Given the description of an element on the screen output the (x, y) to click on. 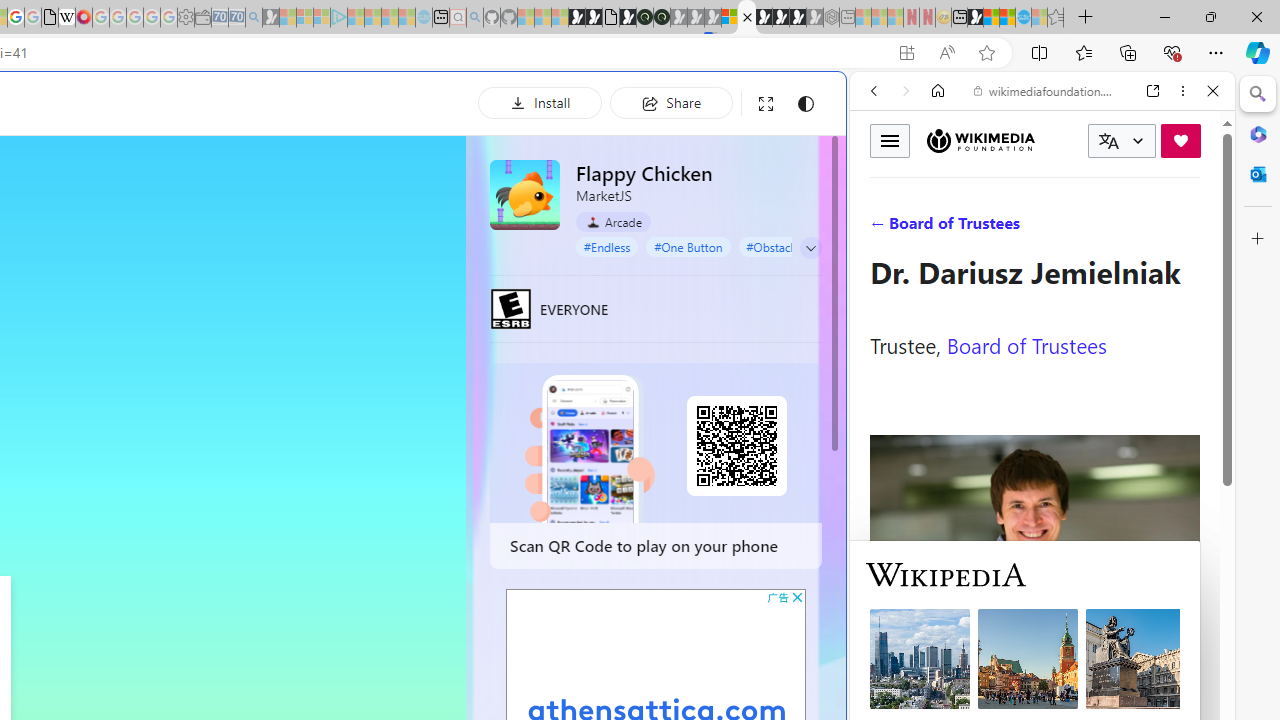
Search Filter, IMAGES (939, 228)
google_privacy_policy_zh-CN.pdf (49, 17)
Arcade (613, 221)
Wiktionary (1034, 669)
Class: expand-arrow neutral (810, 247)
Wikimedia Foundation (980, 140)
#Endless (607, 246)
